Given the description of an element on the screen output the (x, y) to click on. 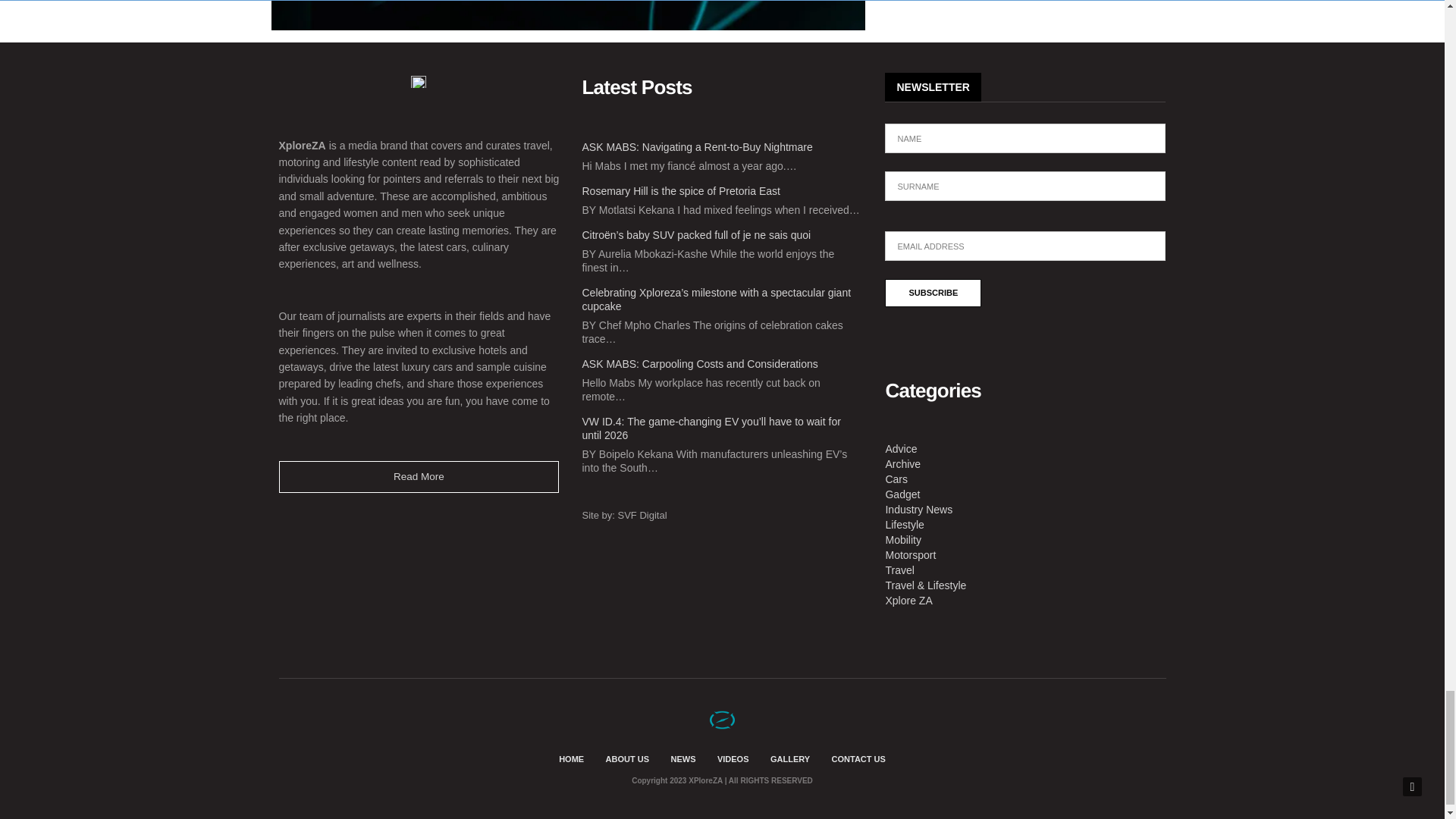
Subscribe (933, 293)
